Given the description of an element on the screen output the (x, y) to click on. 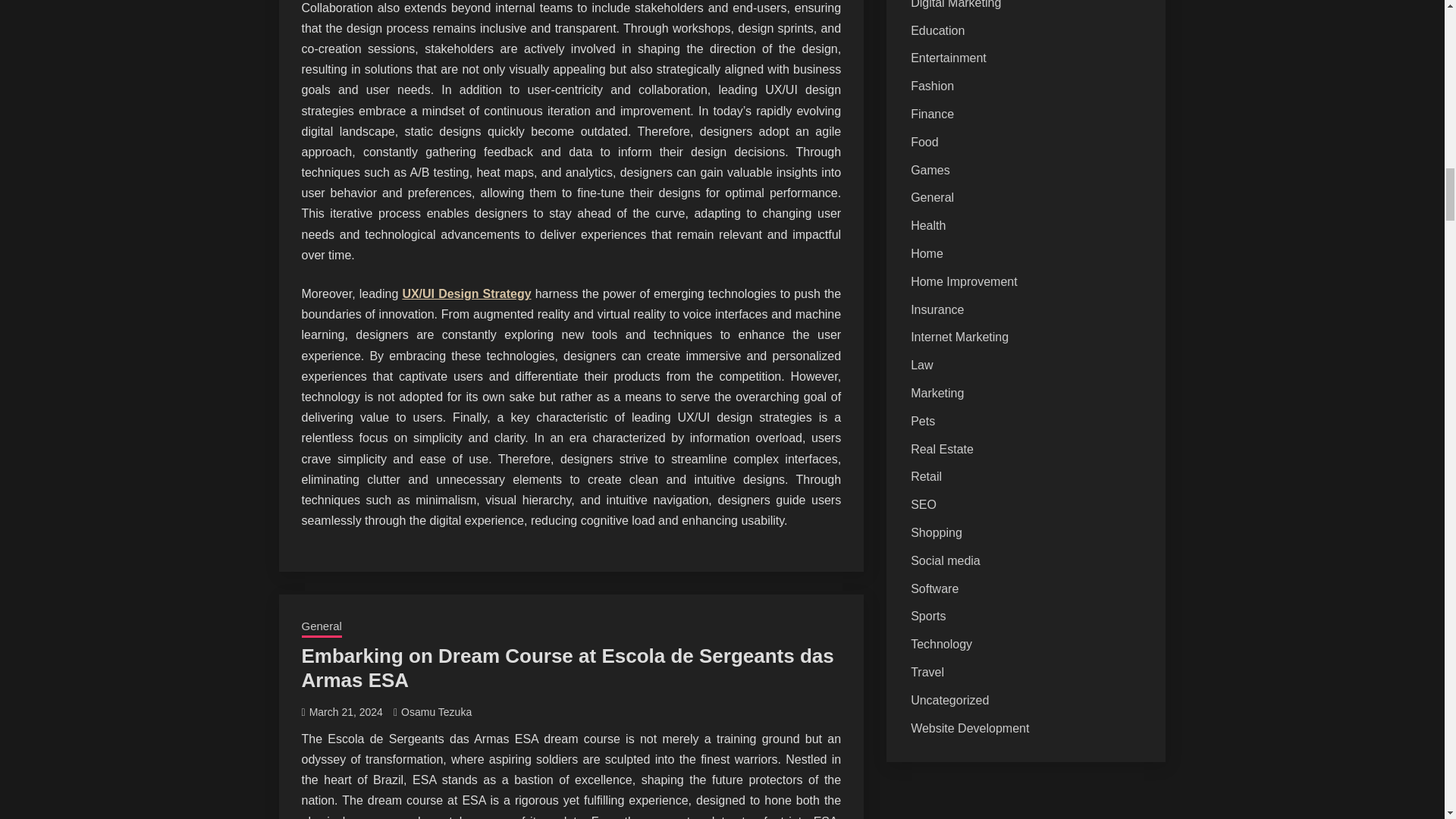
March 21, 2024 (345, 711)
Osamu Tezuka (436, 711)
General (321, 628)
